Given the description of an element on the screen output the (x, y) to click on. 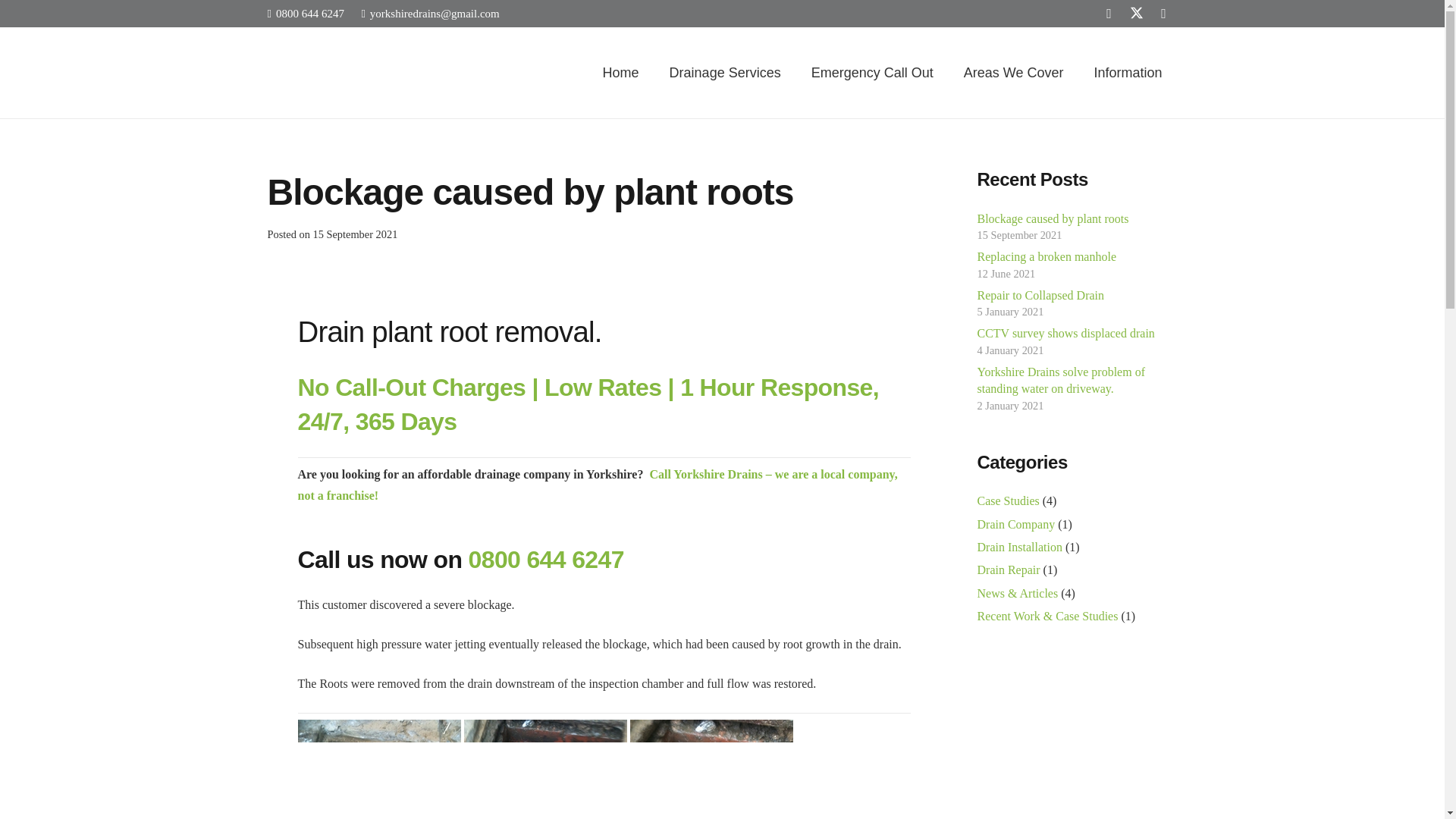
Twitter (1136, 13)
Information (1127, 72)
Google (1163, 13)
Emergency Call Out (872, 72)
0800 644 6247 (304, 13)
Facebook (1108, 13)
Areas We Cover (1013, 72)
Drainage Services (724, 72)
